Given the description of an element on the screen output the (x, y) to click on. 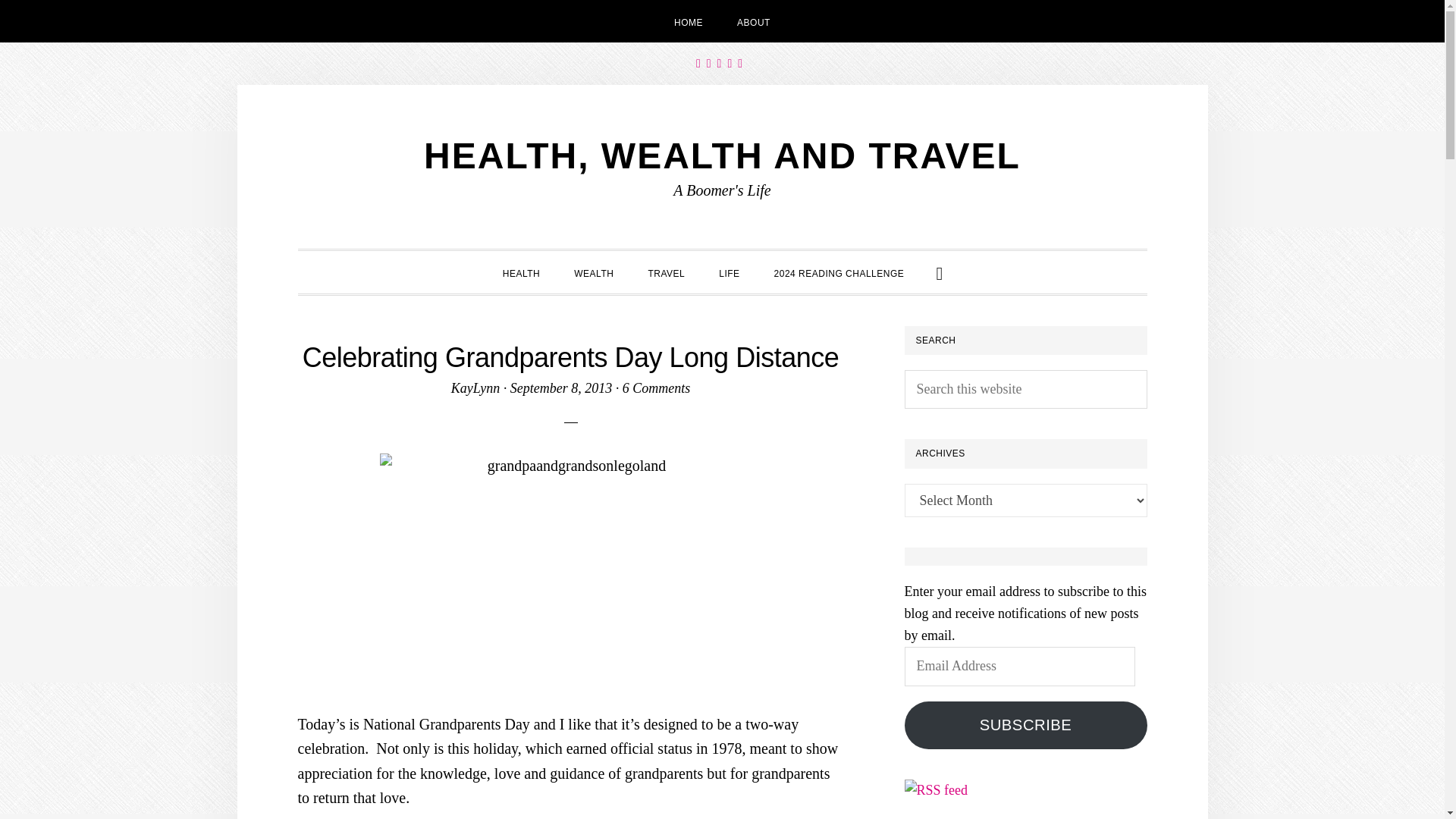
WEALTH (593, 271)
HEALTH, WEALTH AND TRAVEL (721, 155)
HEALTH (520, 271)
HOME (688, 21)
Subscribe to posts (936, 789)
ABOUT (754, 21)
TRAVEL (665, 271)
